Given the description of an element on the screen output the (x, y) to click on. 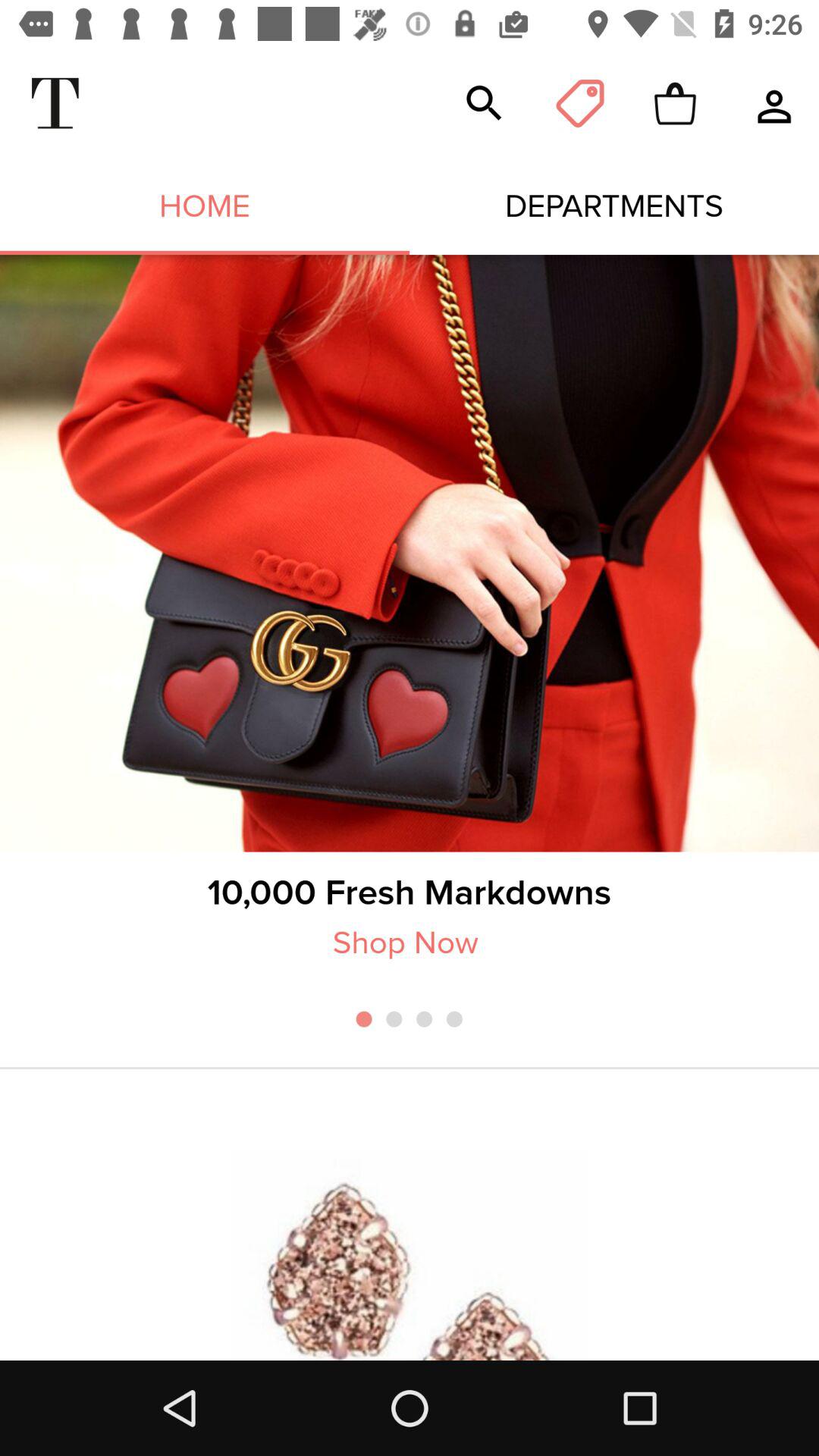
choose the item above the departments icon (484, 103)
